Given the description of an element on the screen output the (x, y) to click on. 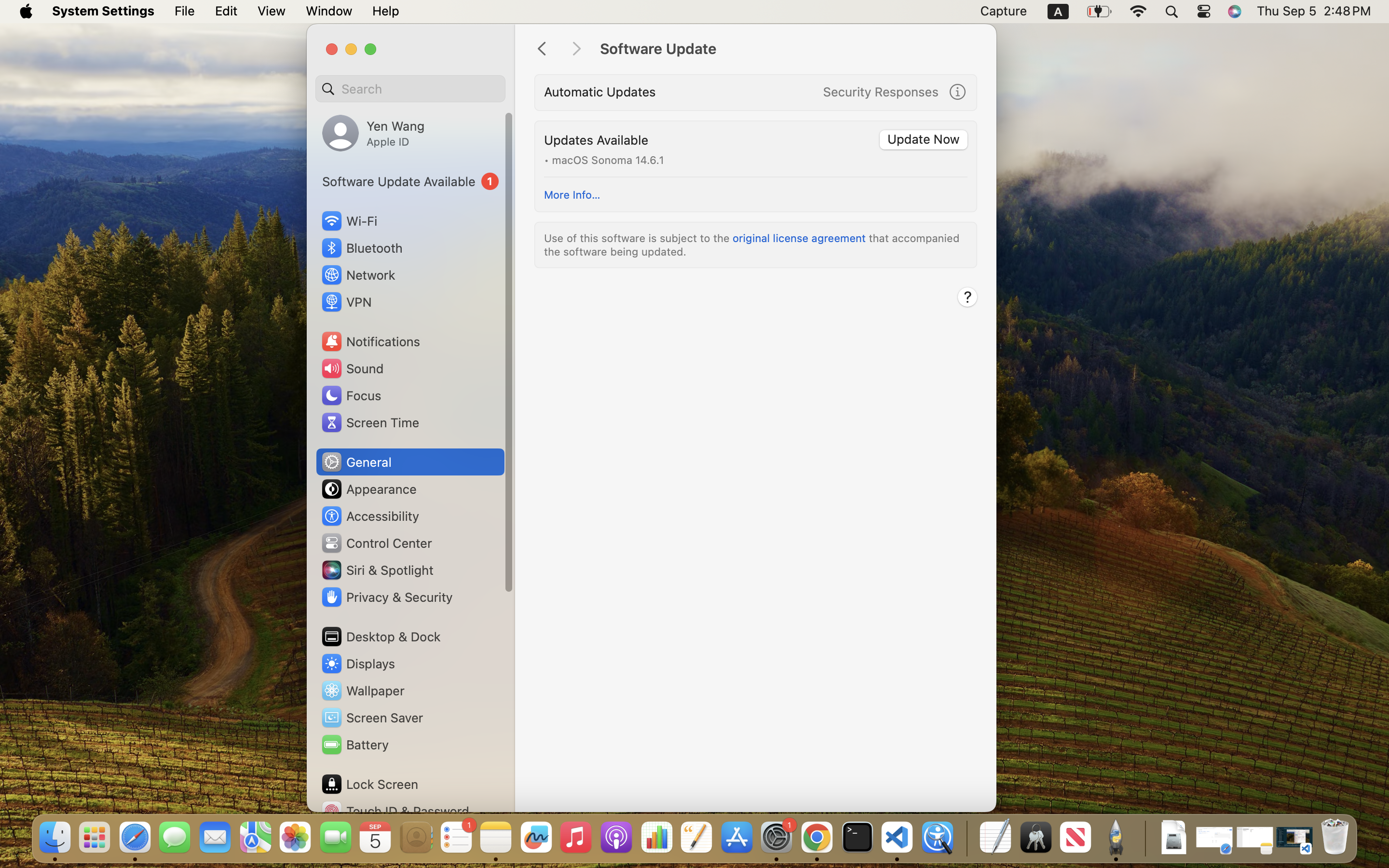
1 Element type: AXStaticText (410, 180)
• macOS Sonoma 14.6.1 Element type: AXStaticText (603, 158)
Accessibility Element type: AXStaticText (369, 515)
General Element type: AXStaticText (355, 461)
Siri & Spotlight Element type: AXStaticText (376, 569)
